Given the description of an element on the screen output the (x, y) to click on. 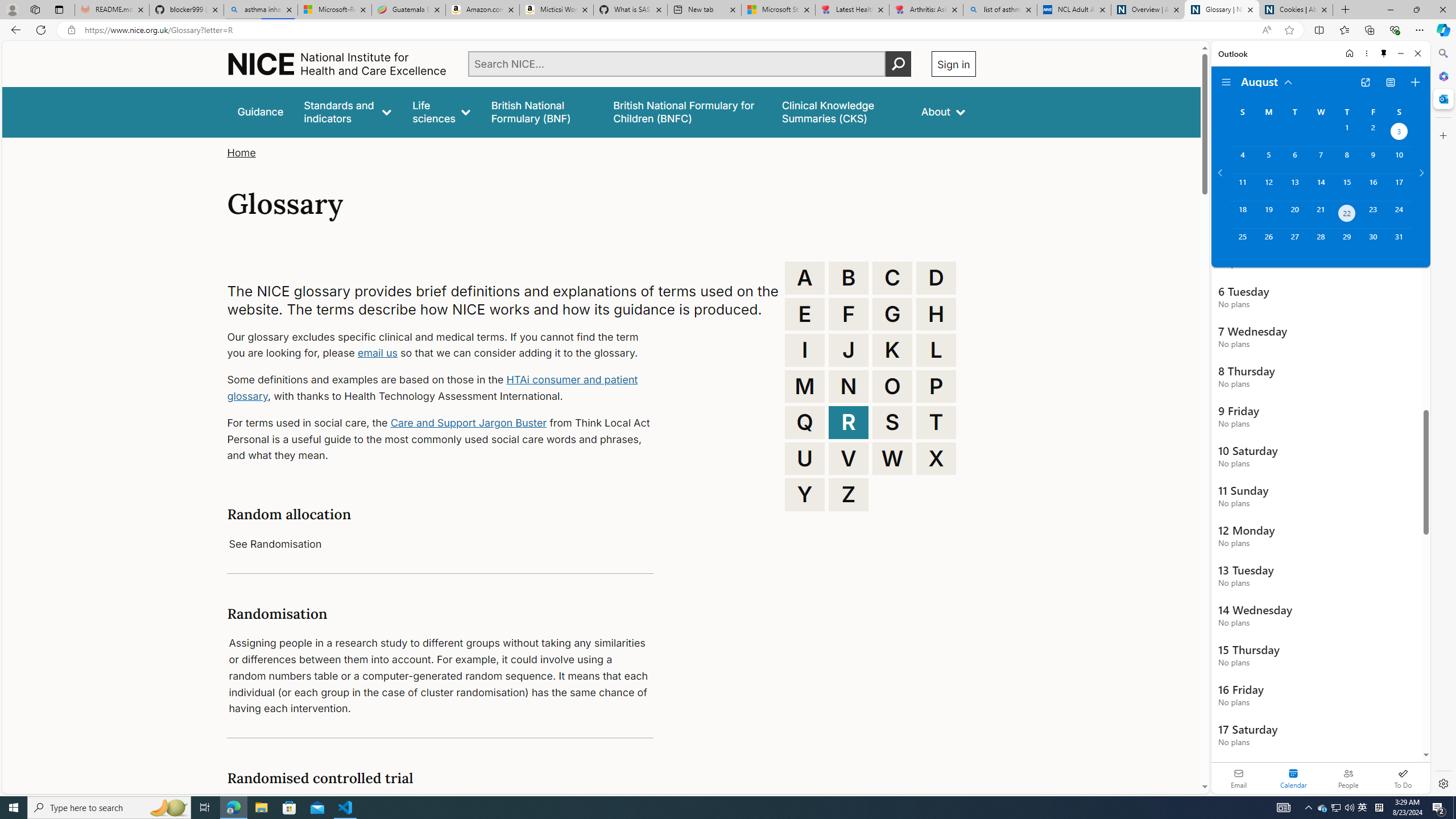
M (804, 385)
Monday, August 12, 2024.  (1268, 186)
Close (1417, 53)
Thursday, August 22, 2024. Today.  (1346, 214)
Close Outlook pane (1442, 98)
Saturday, August 3, 2024. Date selected.  (1399, 132)
Wednesday, August 7, 2024.  (1320, 159)
K (892, 350)
Home (241, 152)
Arthritis: Ask Health Professionals (925, 9)
Folder navigation (1225, 82)
Tab actions menu (58, 9)
To Do (1402, 777)
Y (804, 494)
